Given the description of an element on the screen output the (x, y) to click on. 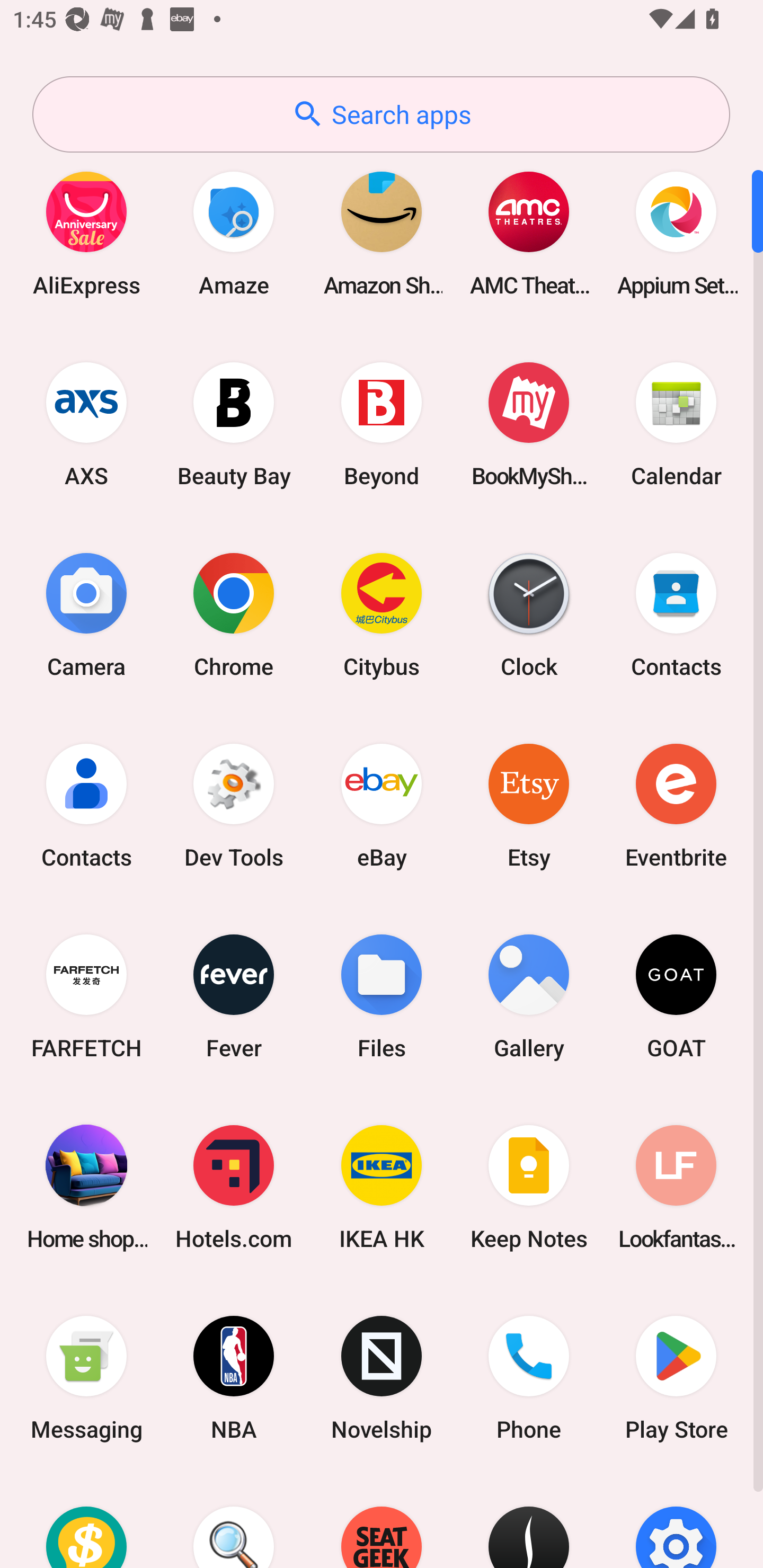
  Search apps (381, 114)
AliExpress (86, 233)
Amaze (233, 233)
Amazon Shopping (381, 233)
AMC Theatres (528, 233)
Appium Settings (676, 233)
AXS (86, 424)
Beauty Bay (233, 424)
Beyond (381, 424)
BookMyShow (528, 424)
Calendar (676, 424)
Camera (86, 614)
Chrome (233, 614)
Citybus (381, 614)
Clock (528, 614)
Contacts (676, 614)
Contacts (86, 805)
Dev Tools (233, 805)
eBay (381, 805)
Etsy (528, 805)
Eventbrite (676, 805)
FARFETCH (86, 996)
Fever (233, 996)
Files (381, 996)
Gallery (528, 996)
GOAT (676, 996)
Home shopping (86, 1186)
Hotels.com (233, 1186)
IKEA HK (381, 1186)
Keep Notes (528, 1186)
Lookfantastic (676, 1186)
Messaging (86, 1377)
NBA (233, 1377)
Novelship (381, 1377)
Phone (528, 1377)
Play Store (676, 1377)
